Given the description of an element on the screen output the (x, y) to click on. 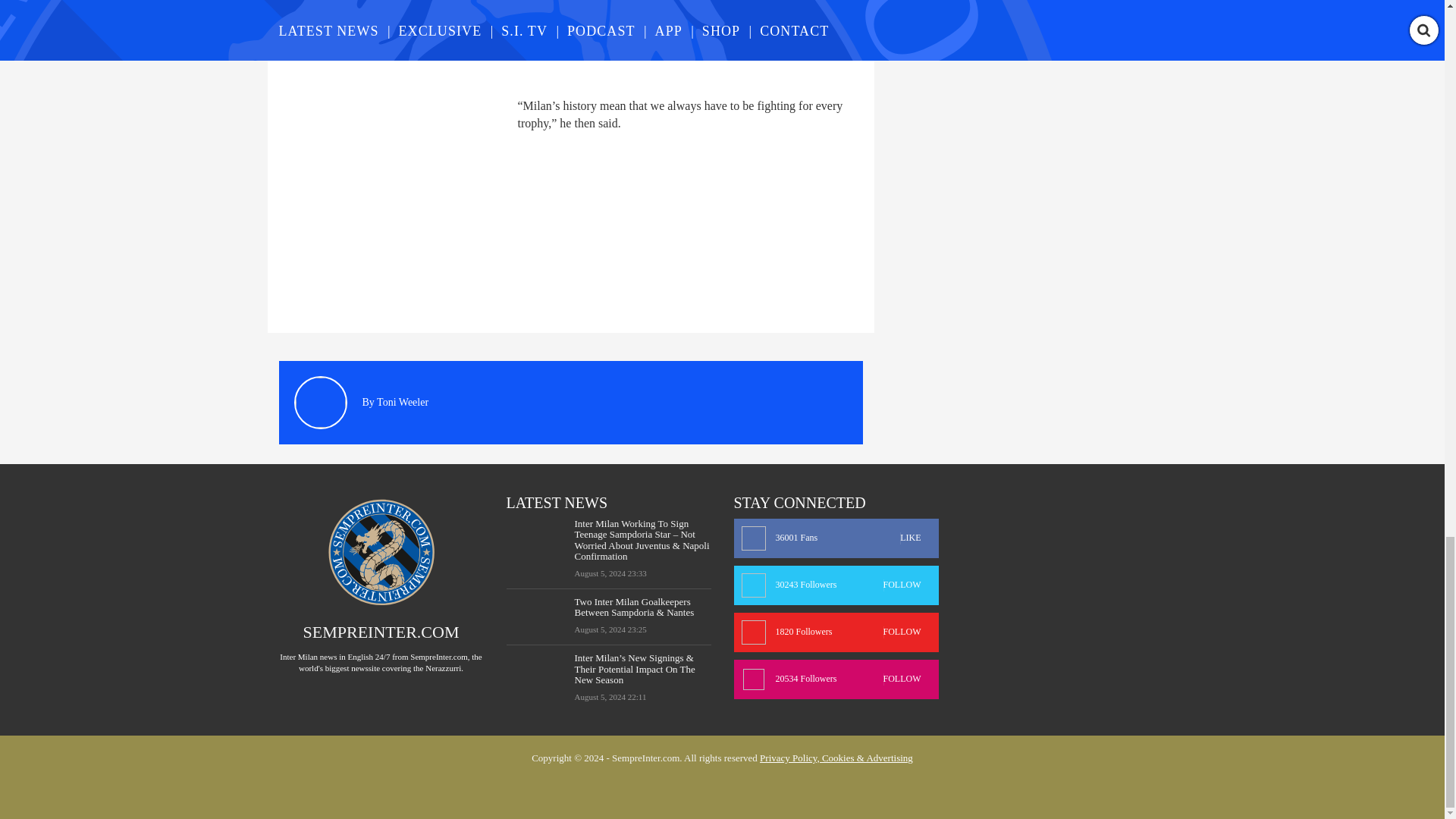
SEMPREINTER.COM (381, 631)
YouTube video player (491, 40)
View more articles by Toni Weeler (402, 401)
Toni Weeler (402, 401)
